Given the description of an element on the screen output the (x, y) to click on. 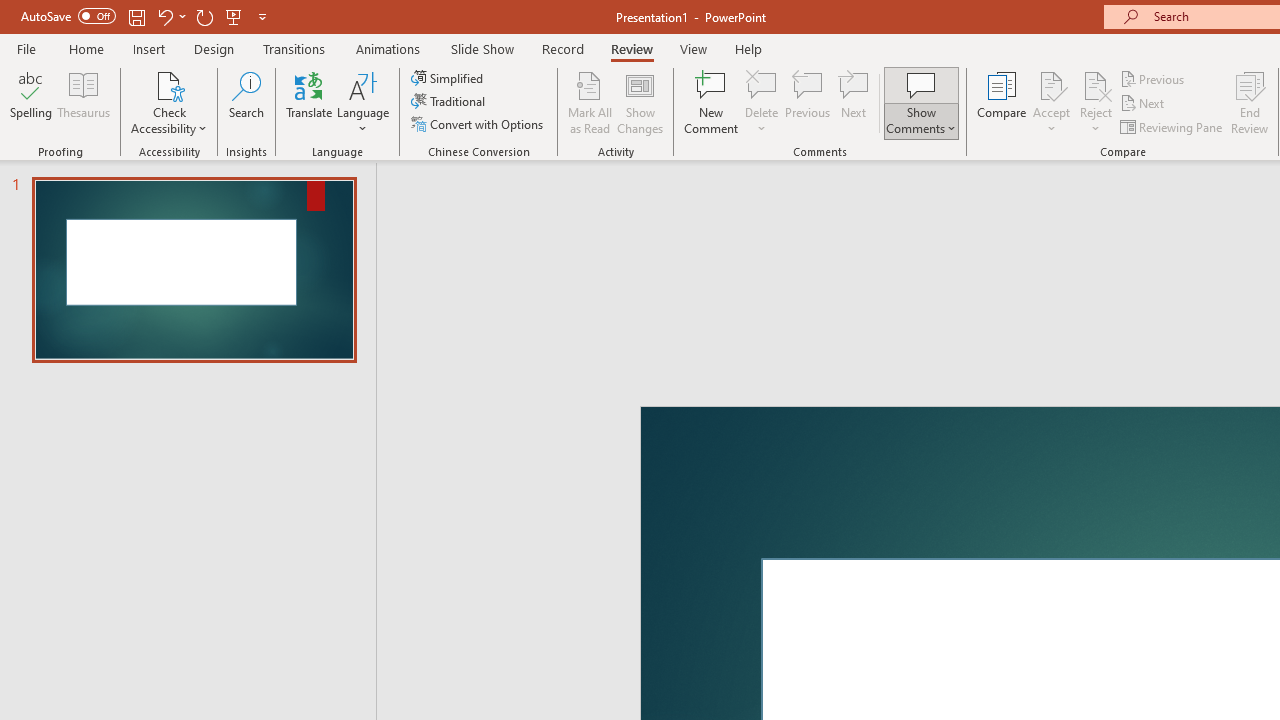
Can't Repeat (341, 31)
Home (127, 84)
3D Models (576, 161)
Table (276, 161)
Shapes (435, 161)
File Tab (46, 84)
More Options (576, 187)
Online Videos... (915, 161)
New Tab (909, 84)
Cover Page (60, 161)
Screenshot (813, 161)
Insert (337, 84)
Mailings (806, 84)
